Given the description of an element on the screen output the (x, y) to click on. 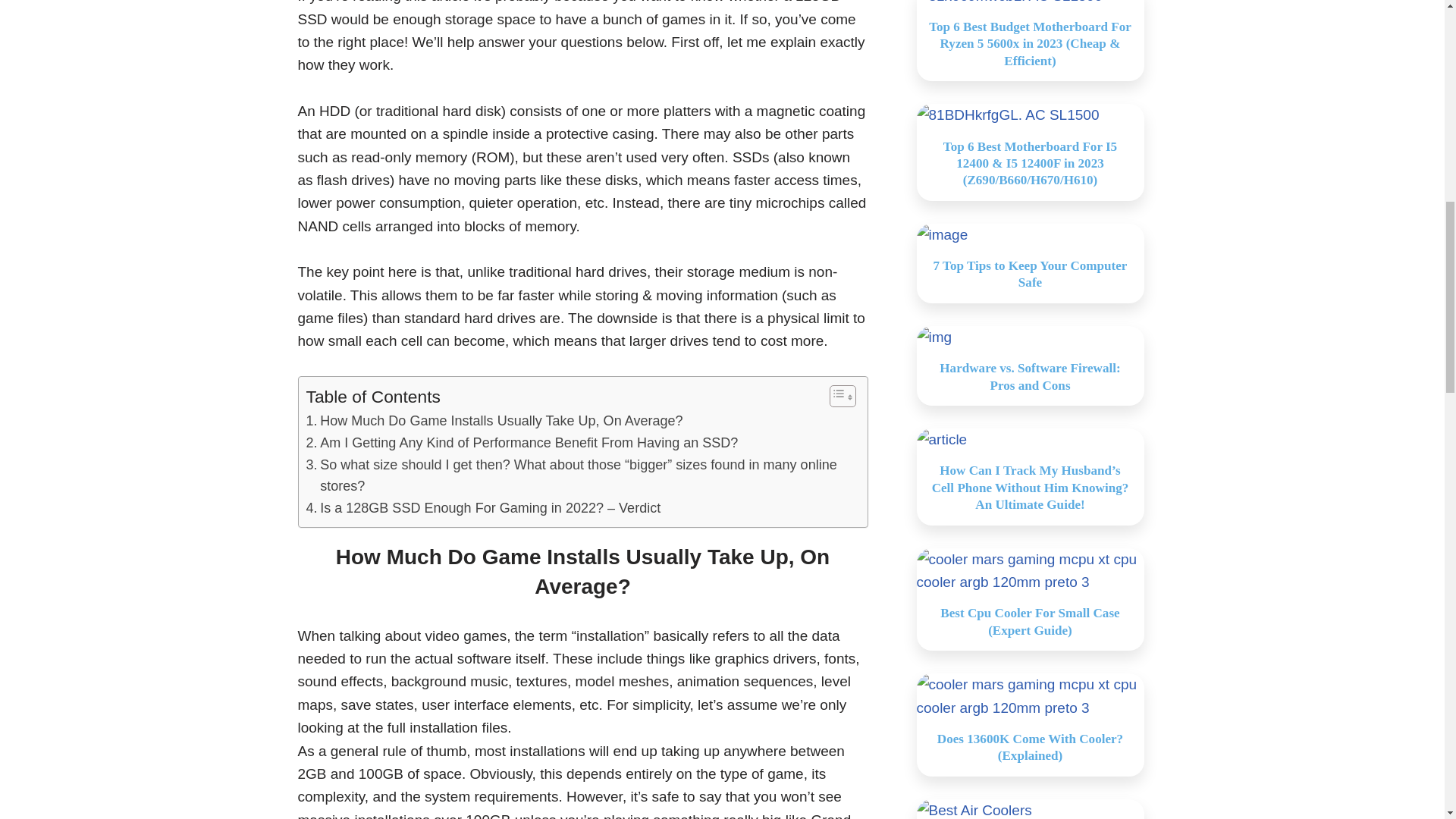
7 Top Tips to Keep Your Computer Safe (1030, 274)
How Much Do Game Installs Usually Take Up, On Average? (493, 421)
7 Top Tips to Keep Your Computer Safe 11 (941, 234)
How Much Do Game Installs Usually Take Up, On Average? (493, 421)
